Given the description of an element on the screen output the (x, y) to click on. 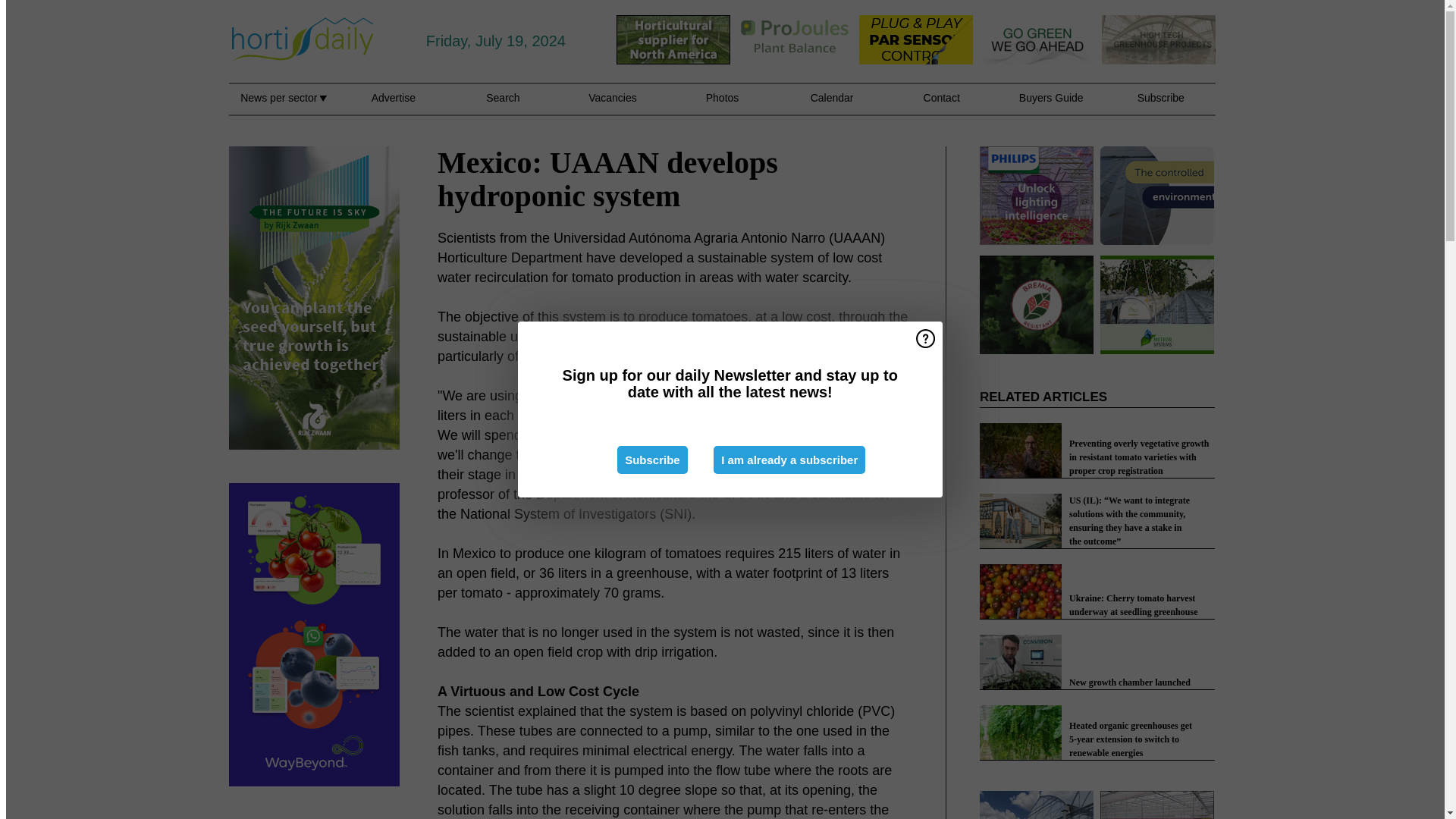
News per sector (283, 106)
Subscribe (652, 459)
I am already a subscriber (788, 459)
